Given the description of an element on the screen output the (x, y) to click on. 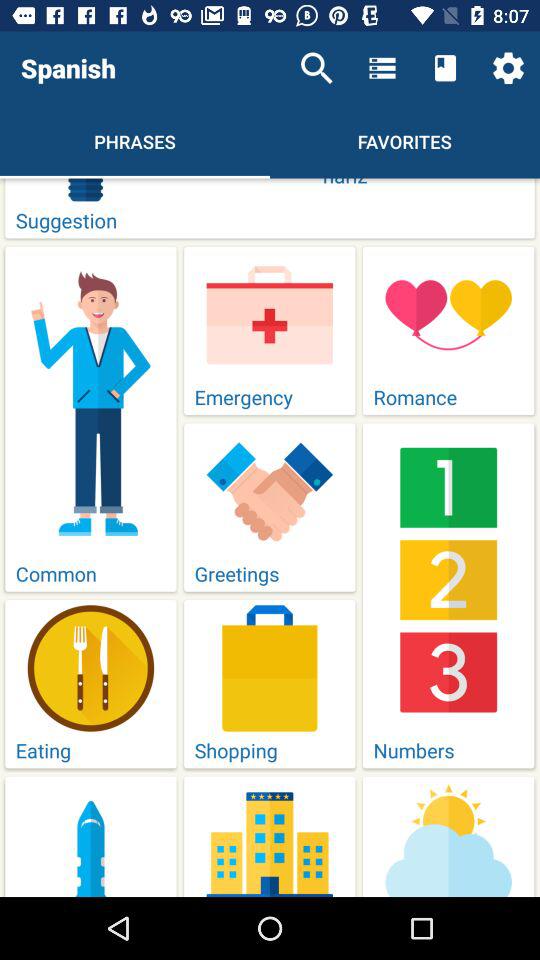
click the icon above nariz item (508, 67)
